Given the description of an element on the screen output the (x, y) to click on. 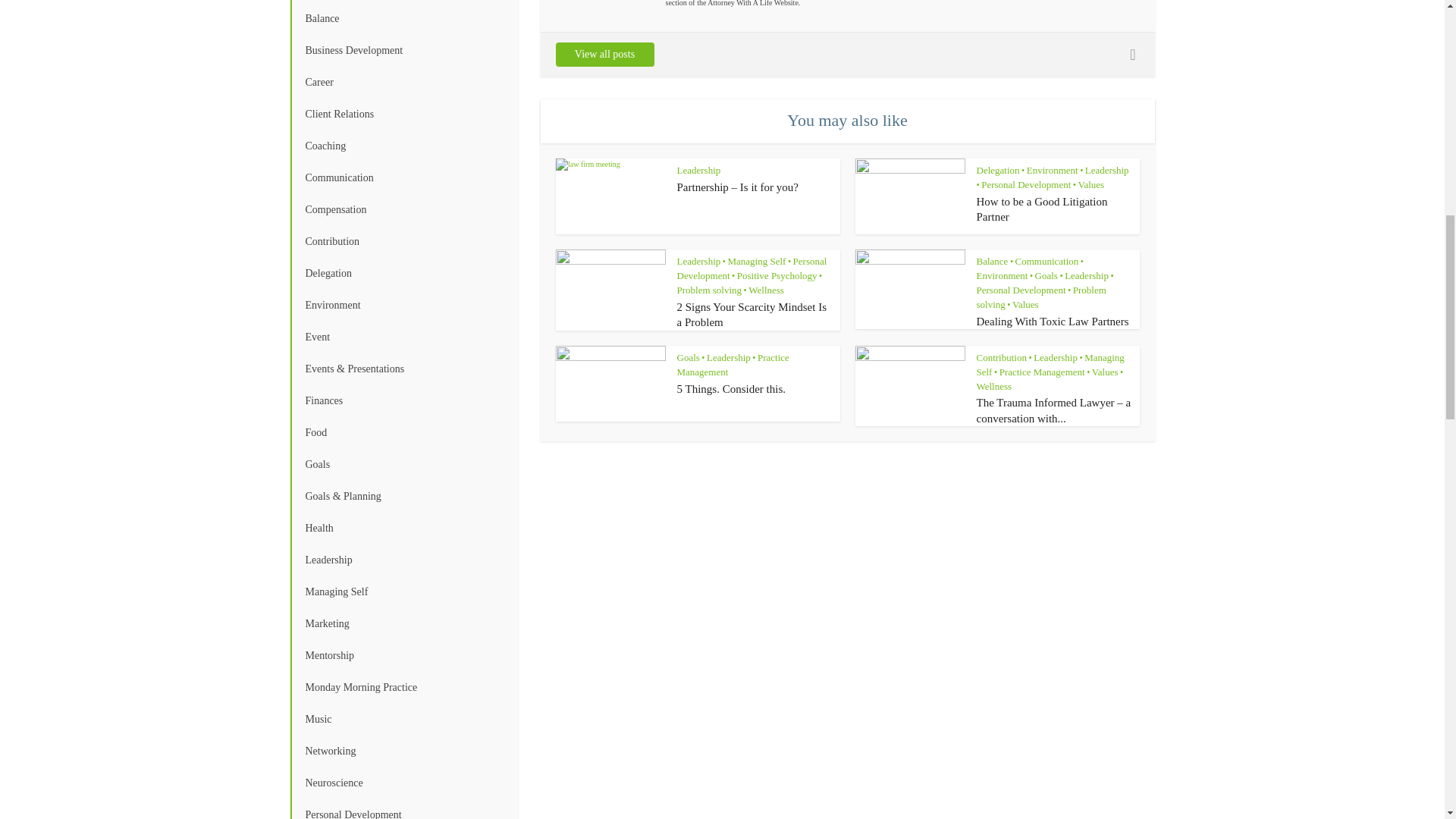
Monday Morning Practice (402, 687)
Contribution (402, 241)
Networking (402, 751)
How to be a Good Litigation Partner (1042, 208)
Mentorship (402, 655)
Compensation (402, 210)
Leadership (402, 560)
Music (402, 719)
Managing Self (402, 592)
Goals (402, 464)
Dealing With Toxic Law Partners (1052, 321)
Appreciation (402, 1)
Balance (402, 19)
Event (402, 336)
Delegation (402, 273)
